Given the description of an element on the screen output the (x, y) to click on. 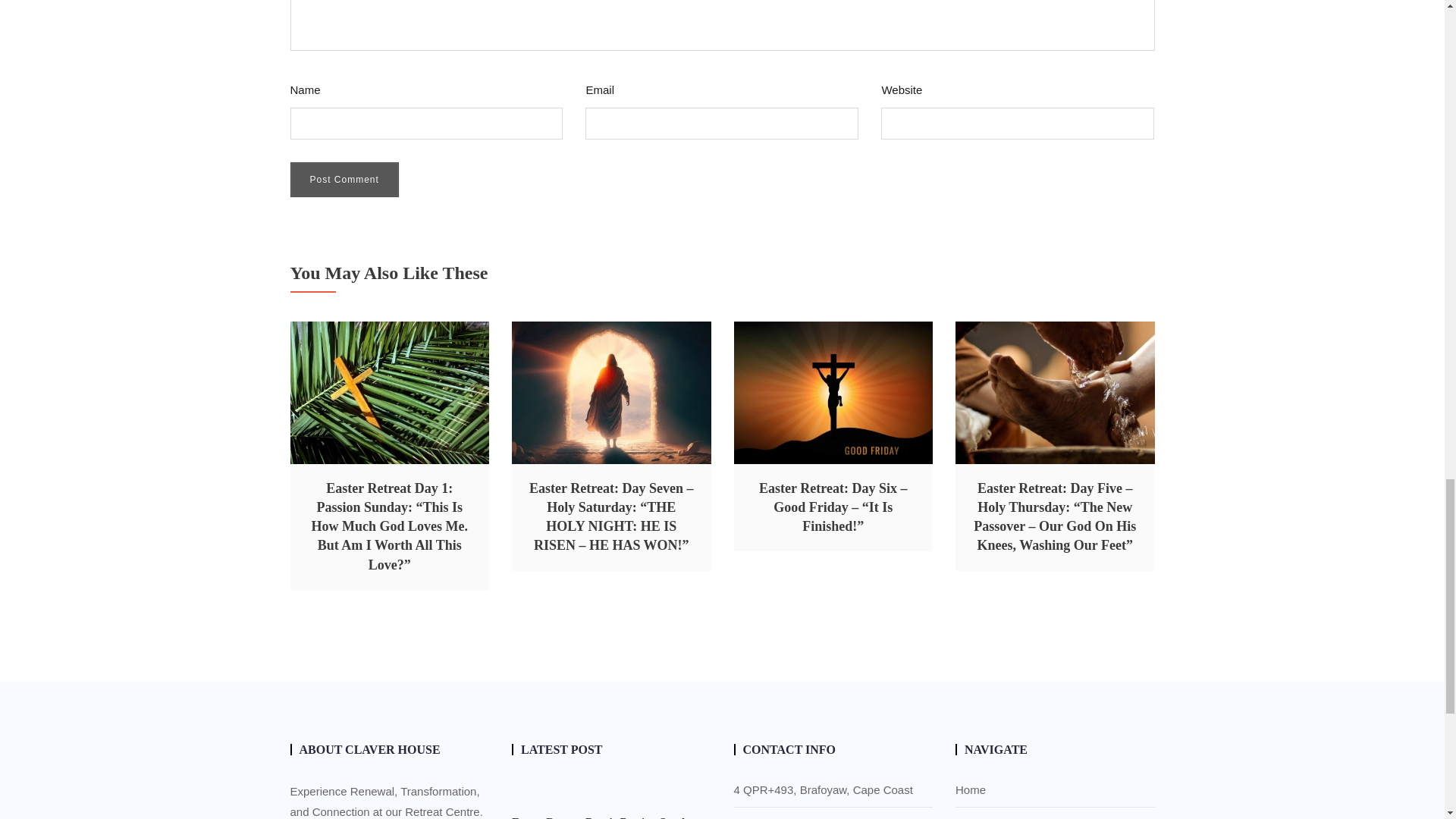
Post Comment (343, 179)
